Given the description of an element on the screen output the (x, y) to click on. 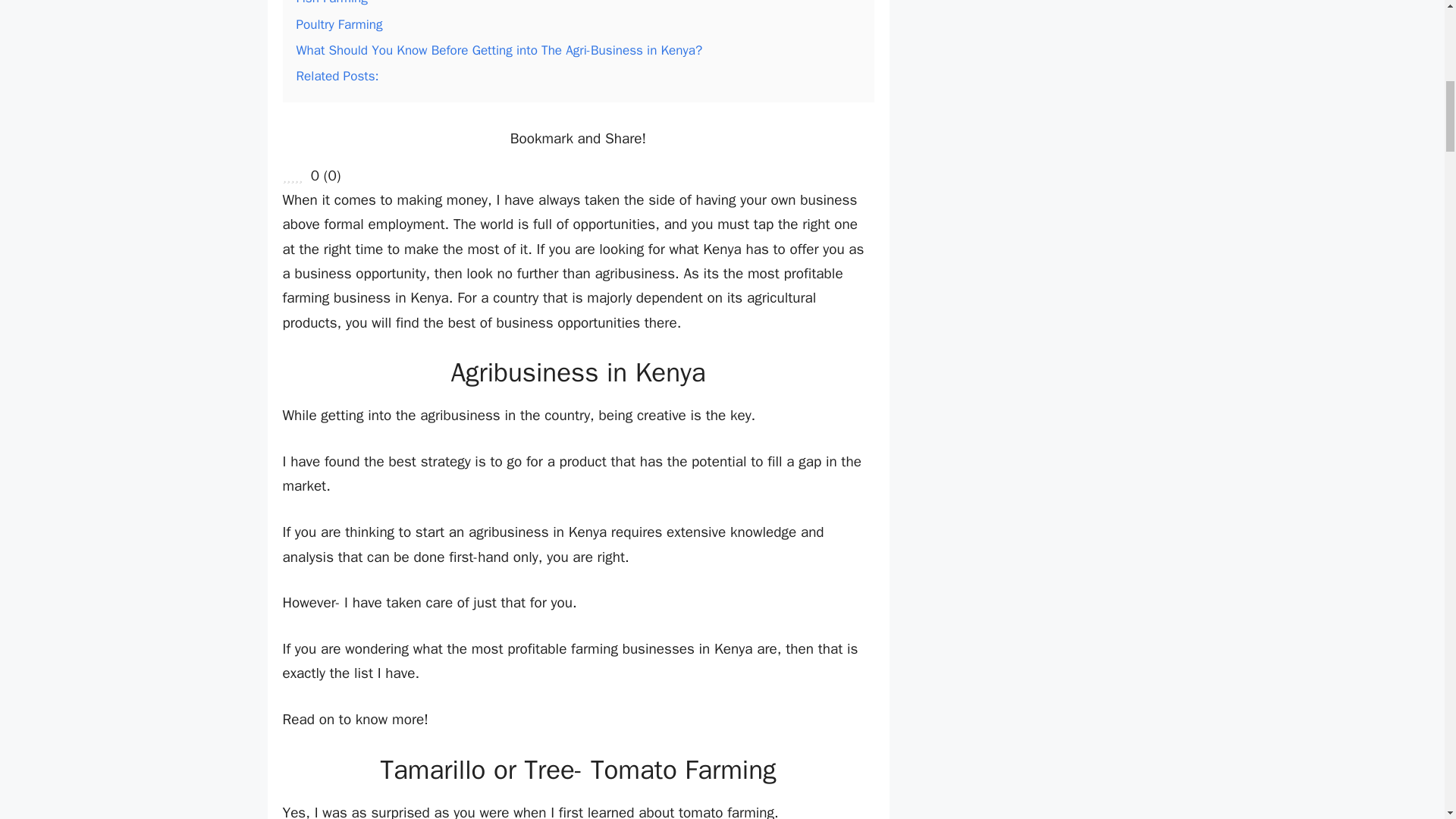
Scroll back to top (1406, 720)
